Given the description of an element on the screen output the (x, y) to click on. 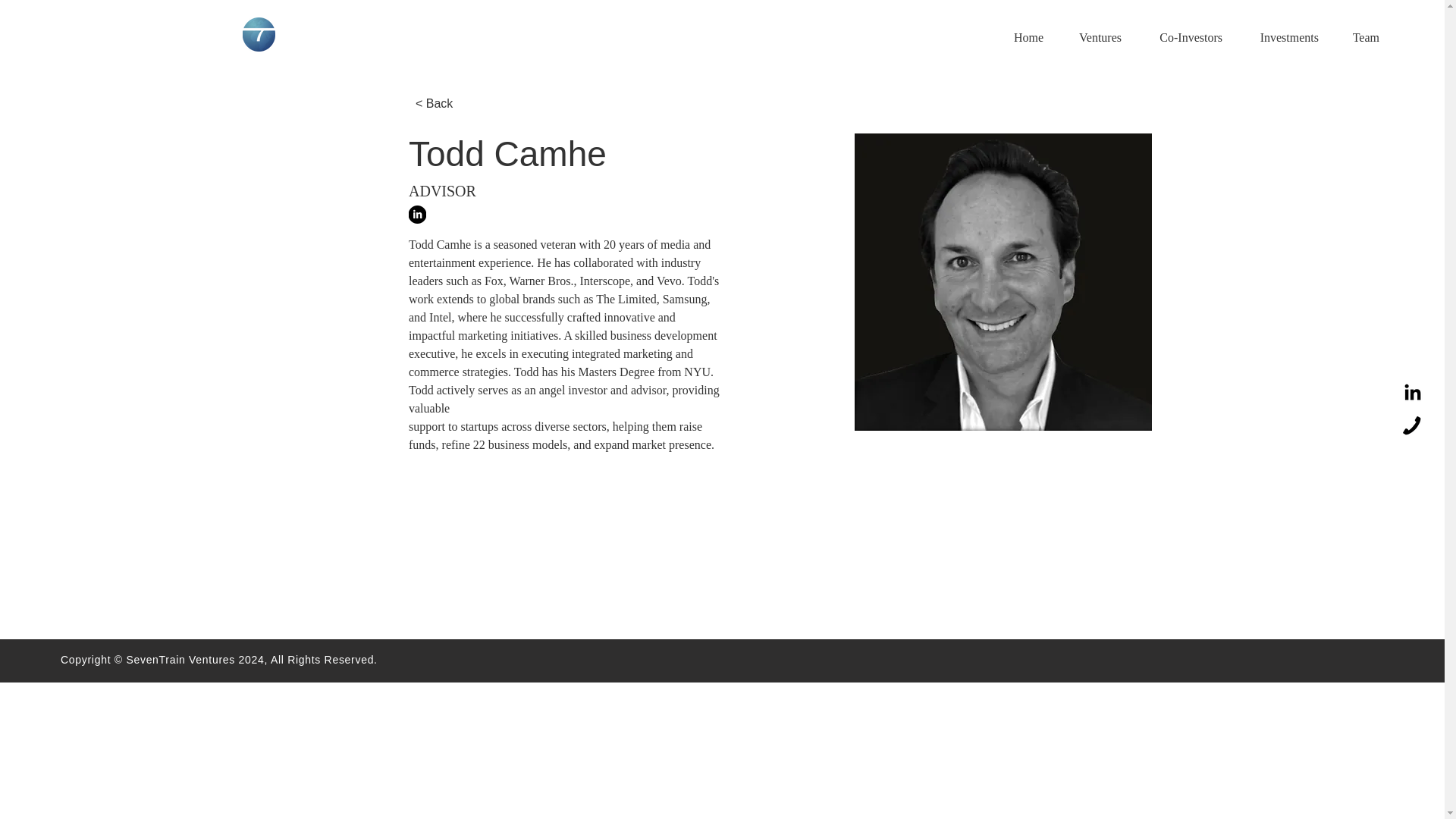
Home (1022, 37)
Co-Investors (1182, 37)
Ventures (1093, 37)
Hoe (259, 34)
Investments (1281, 37)
Team (1360, 37)
